Given the description of an element on the screen output the (x, y) to click on. 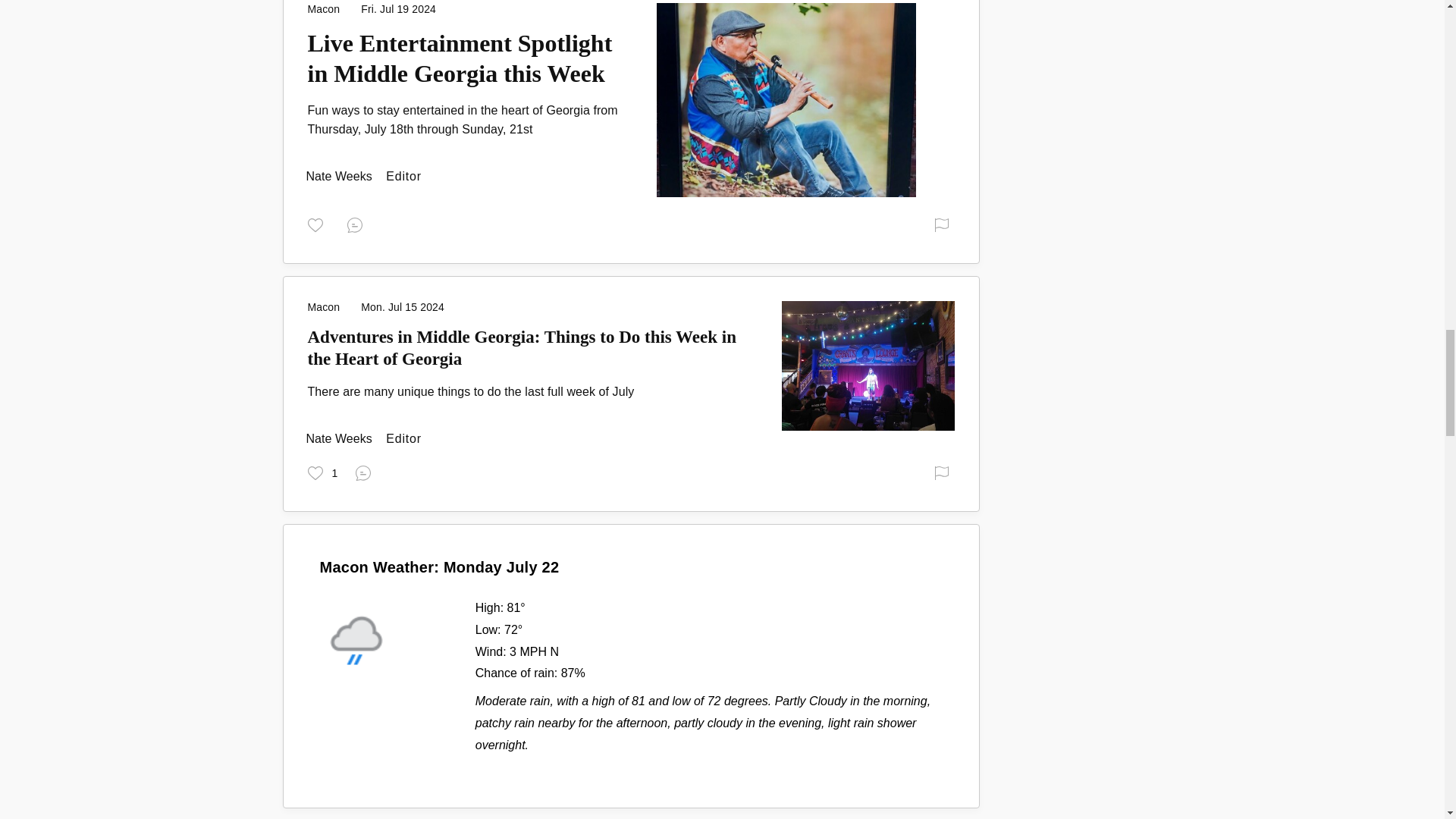
Reply (357, 224)
Thank (318, 224)
Editor (340, 175)
Reply (366, 471)
Editor (340, 438)
Thank (322, 471)
